Given the description of an element on the screen output the (x, y) to click on. 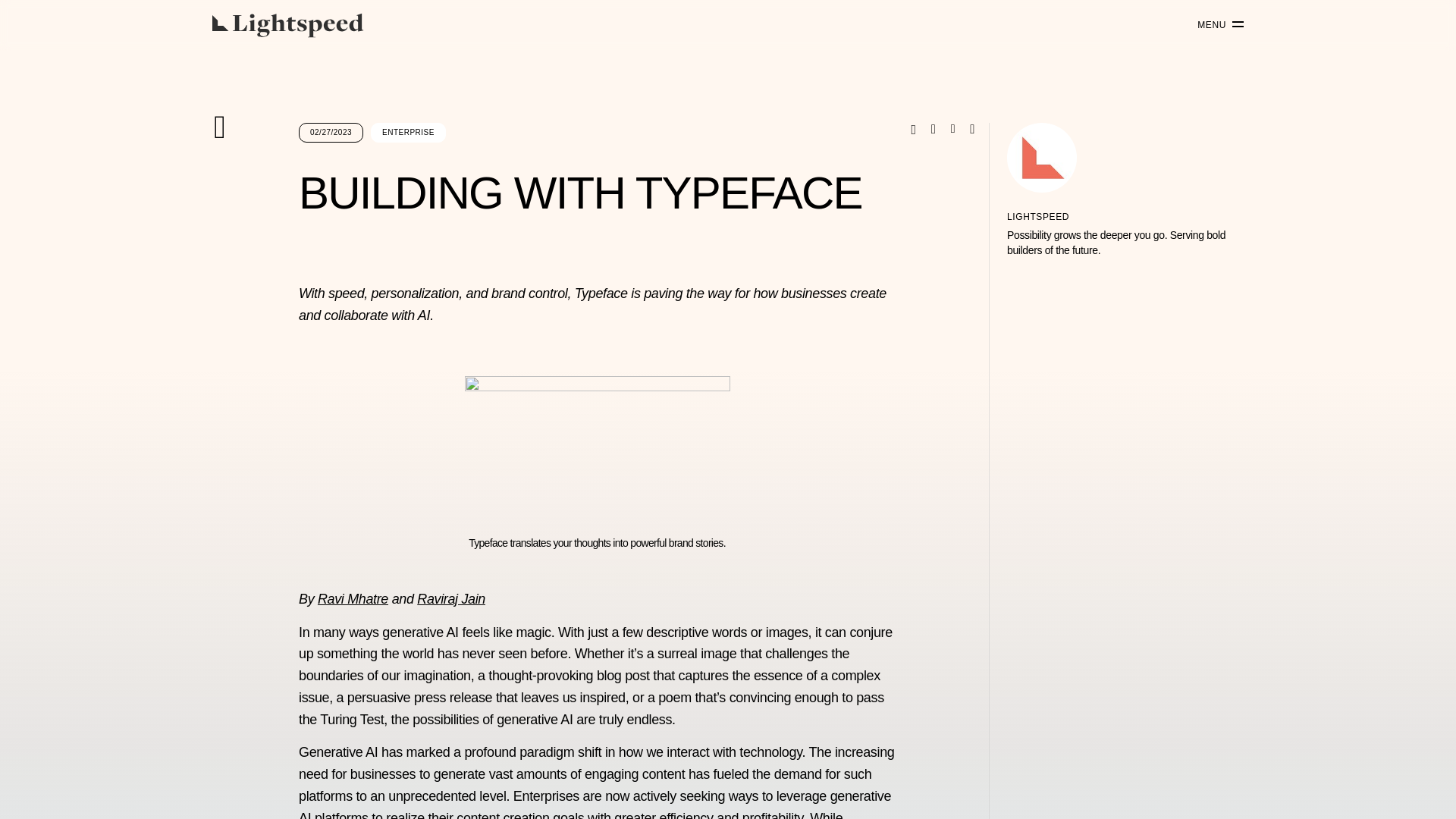
Raviraj Jain (450, 598)
MENU (1214, 25)
Ravi Mhatre (352, 598)
